Given the description of an element on the screen output the (x, y) to click on. 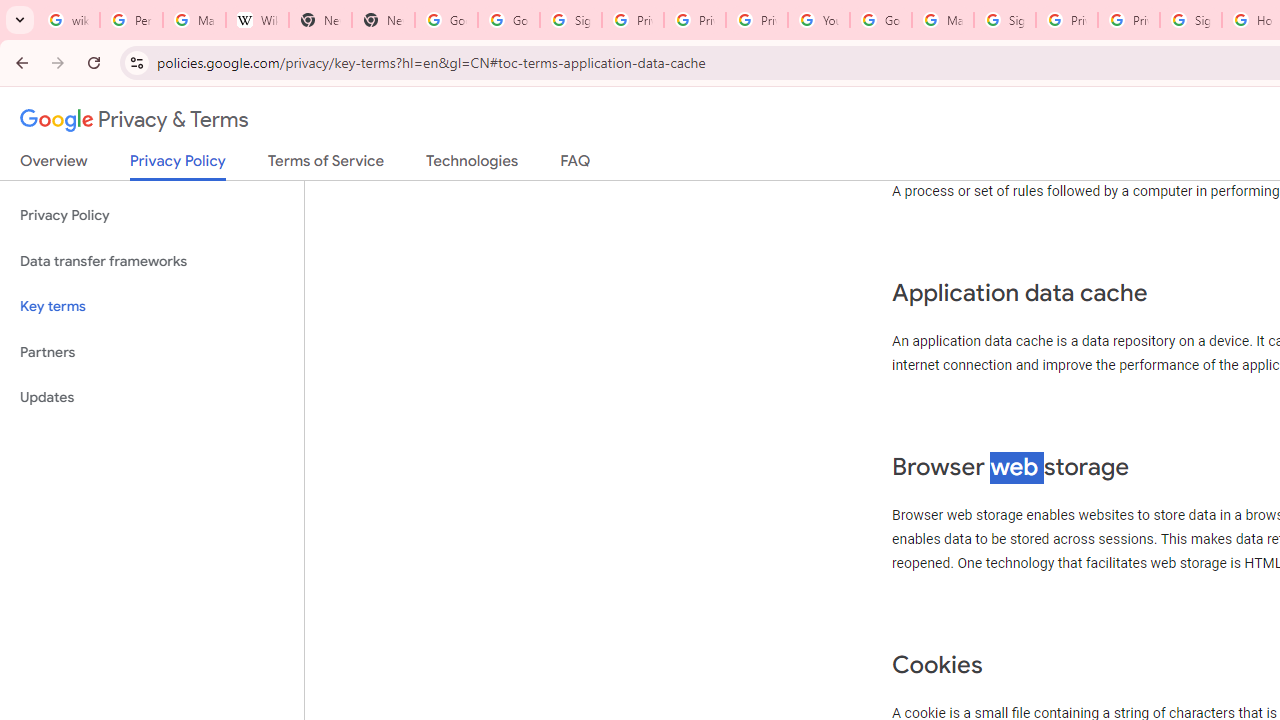
Google Account Help (880, 20)
Google Drive: Sign-in (508, 20)
Sign in - Google Accounts (1004, 20)
YouTube (818, 20)
Sign in - Google Accounts (1190, 20)
